Given the description of an element on the screen output the (x, y) to click on. 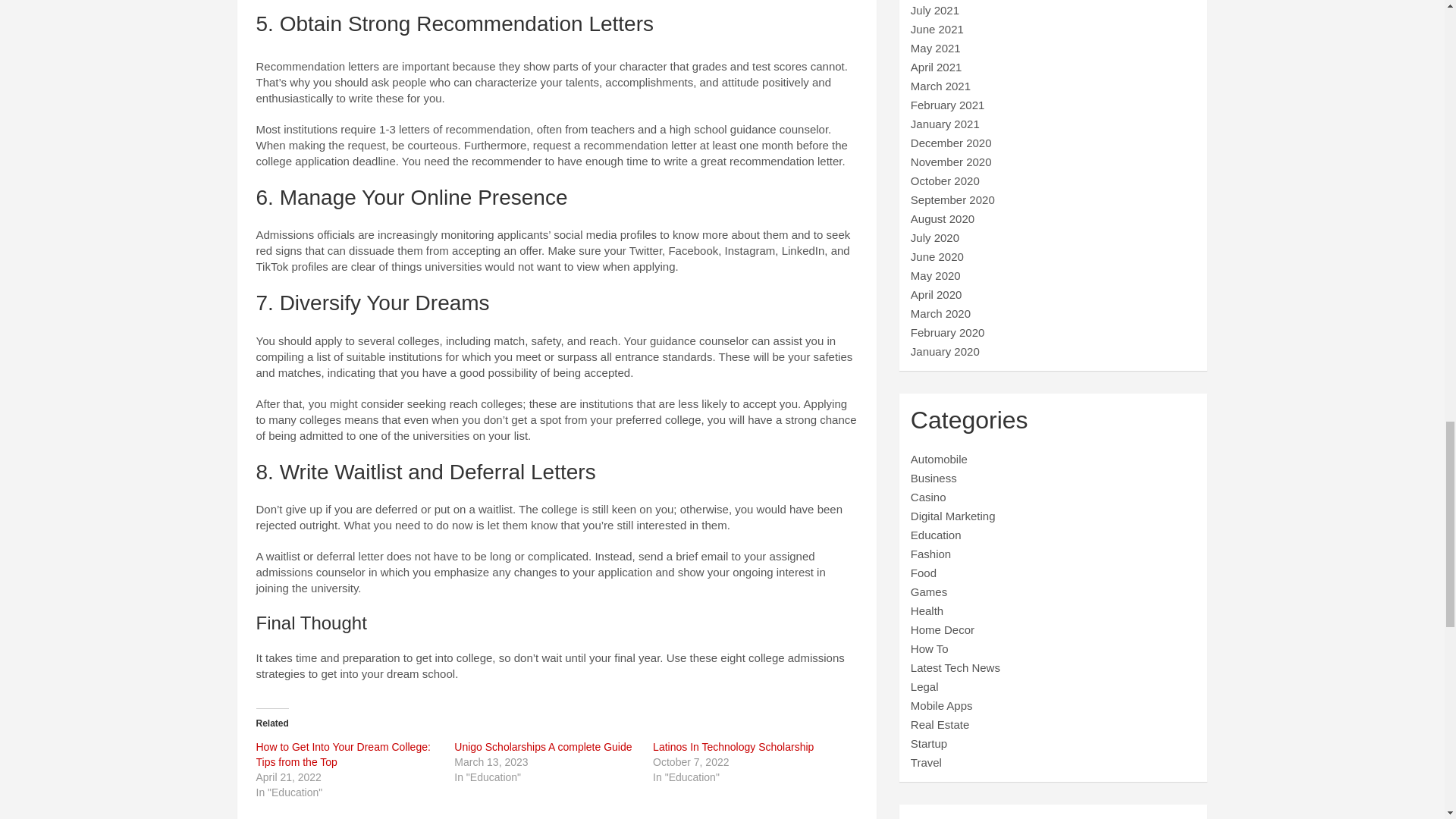
How to Get Into Your Dream College: Tips from the Top (343, 754)
Unigo Scholarships A complete Guide (542, 746)
Latinos In Technology Scholarship (732, 746)
